Given the description of an element on the screen output the (x, y) to click on. 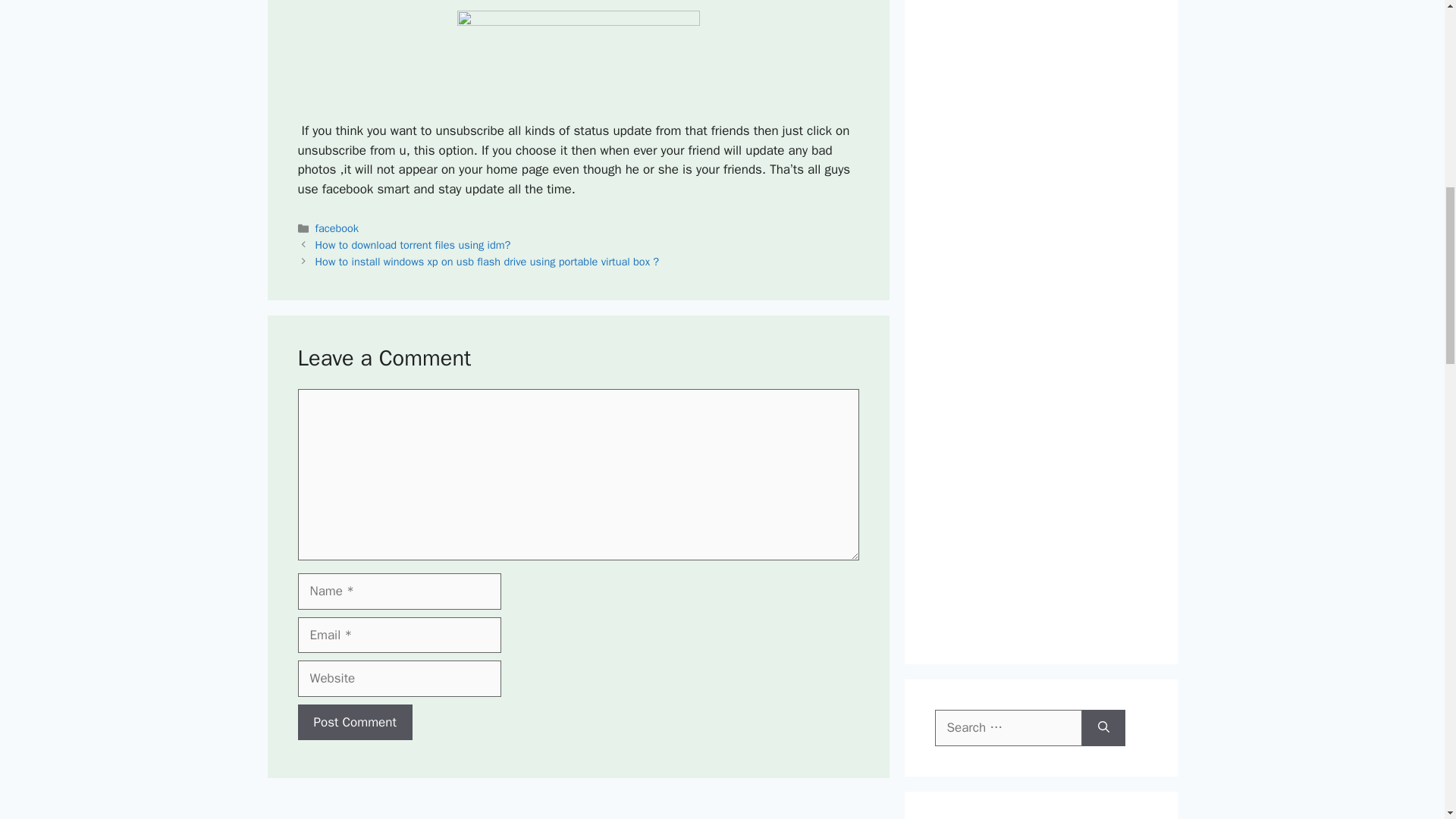
How to download torrent files using idm? (413, 244)
facebook (336, 228)
Search for: (1007, 728)
Post Comment (354, 722)
Post Comment (354, 722)
